Given the description of an element on the screen output the (x, y) to click on. 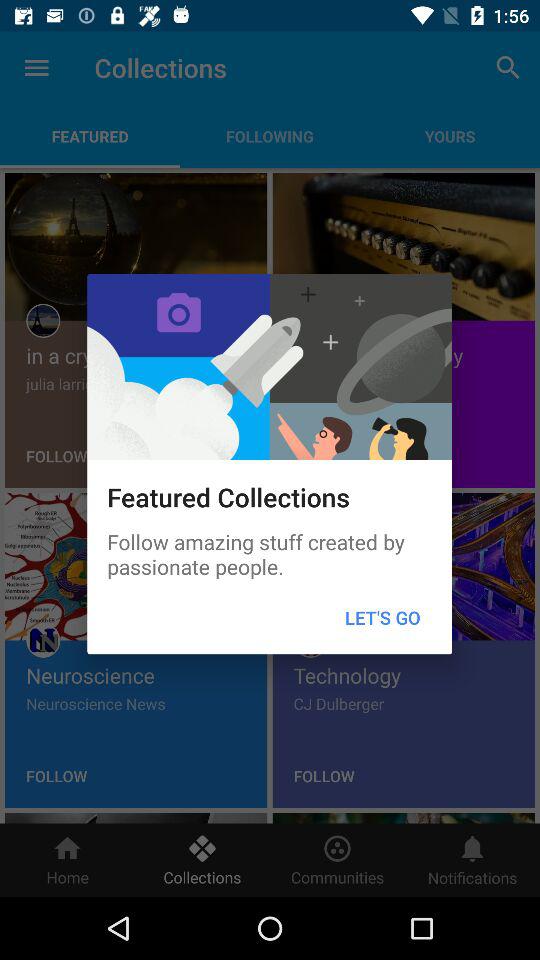
choose item below the follow amazing stuff icon (382, 617)
